Given the description of an element on the screen output the (x, y) to click on. 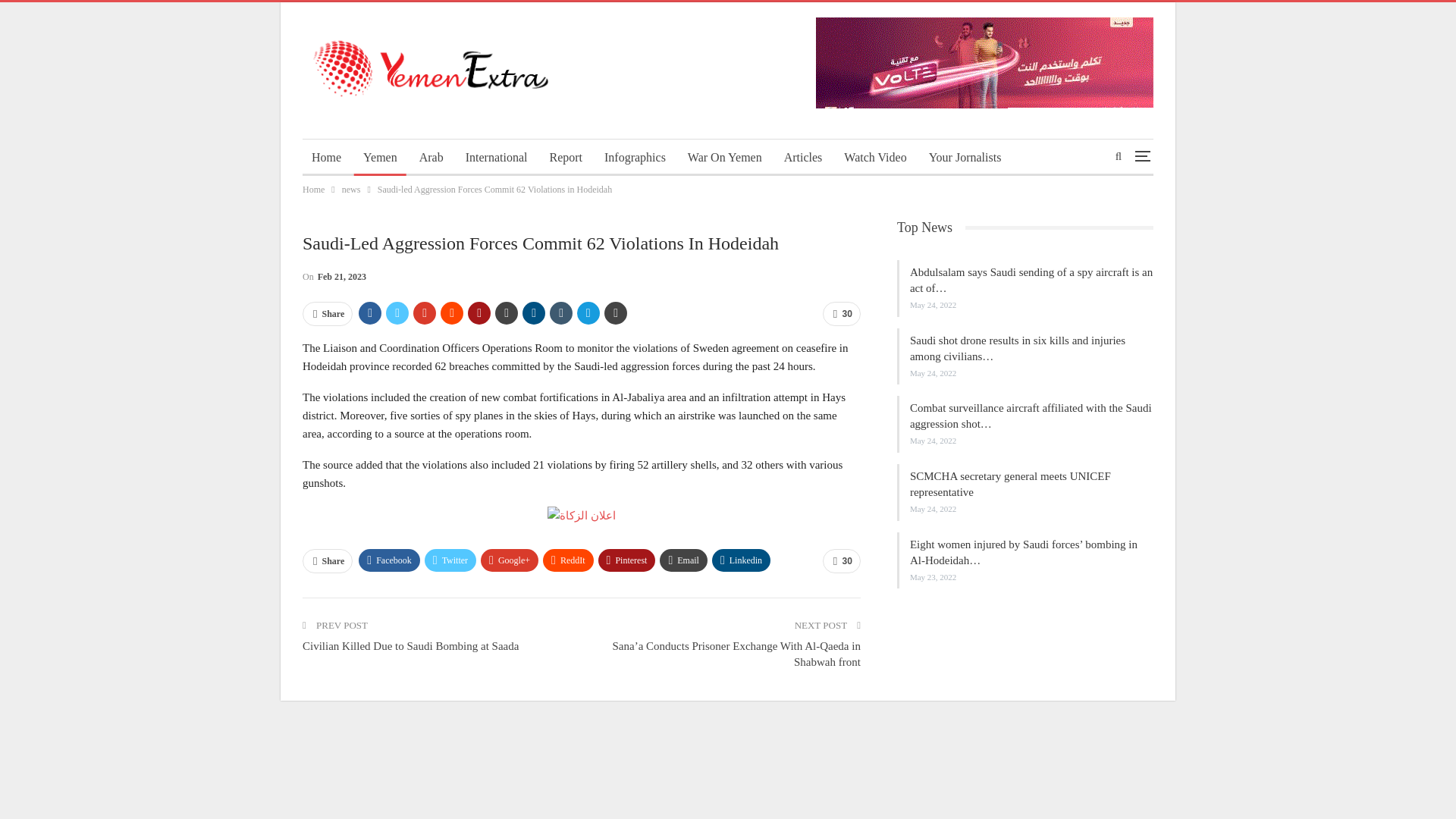
Infographics (635, 157)
Arab (431, 157)
Yemen (379, 157)
Home (313, 189)
Report (565, 157)
news (351, 189)
Articles (802, 157)
Watch Video (874, 157)
International (497, 157)
War On Yemen (724, 157)
Your Jornalists (965, 157)
Home (326, 157)
